Given the description of an element on the screen output the (x, y) to click on. 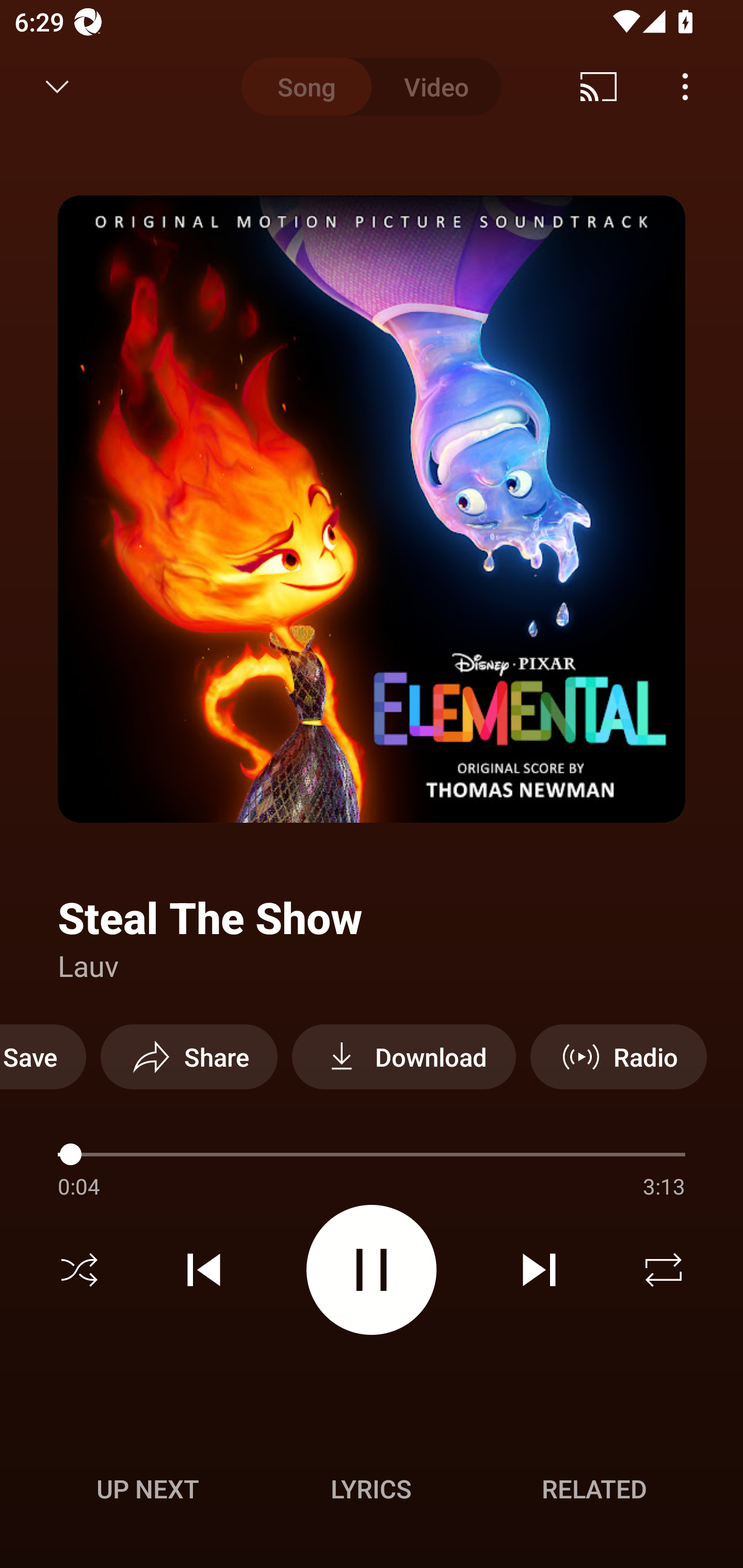
Minimize (57, 86)
Cast. Disconnected (598, 86)
Menu (684, 86)
Save Save to playlist (43, 1056)
Share (188, 1056)
Download (403, 1056)
Radio (618, 1056)
Pause video (371, 1269)
Shuffle off (79, 1269)
Previous track (203, 1269)
Next track (538, 1269)
Repeat off (663, 1269)
Up next UP NEXT Lyrics LYRICS Related RELATED (371, 1491)
Lyrics LYRICS (370, 1488)
Related RELATED (594, 1488)
